Given the description of an element on the screen output the (x, y) to click on. 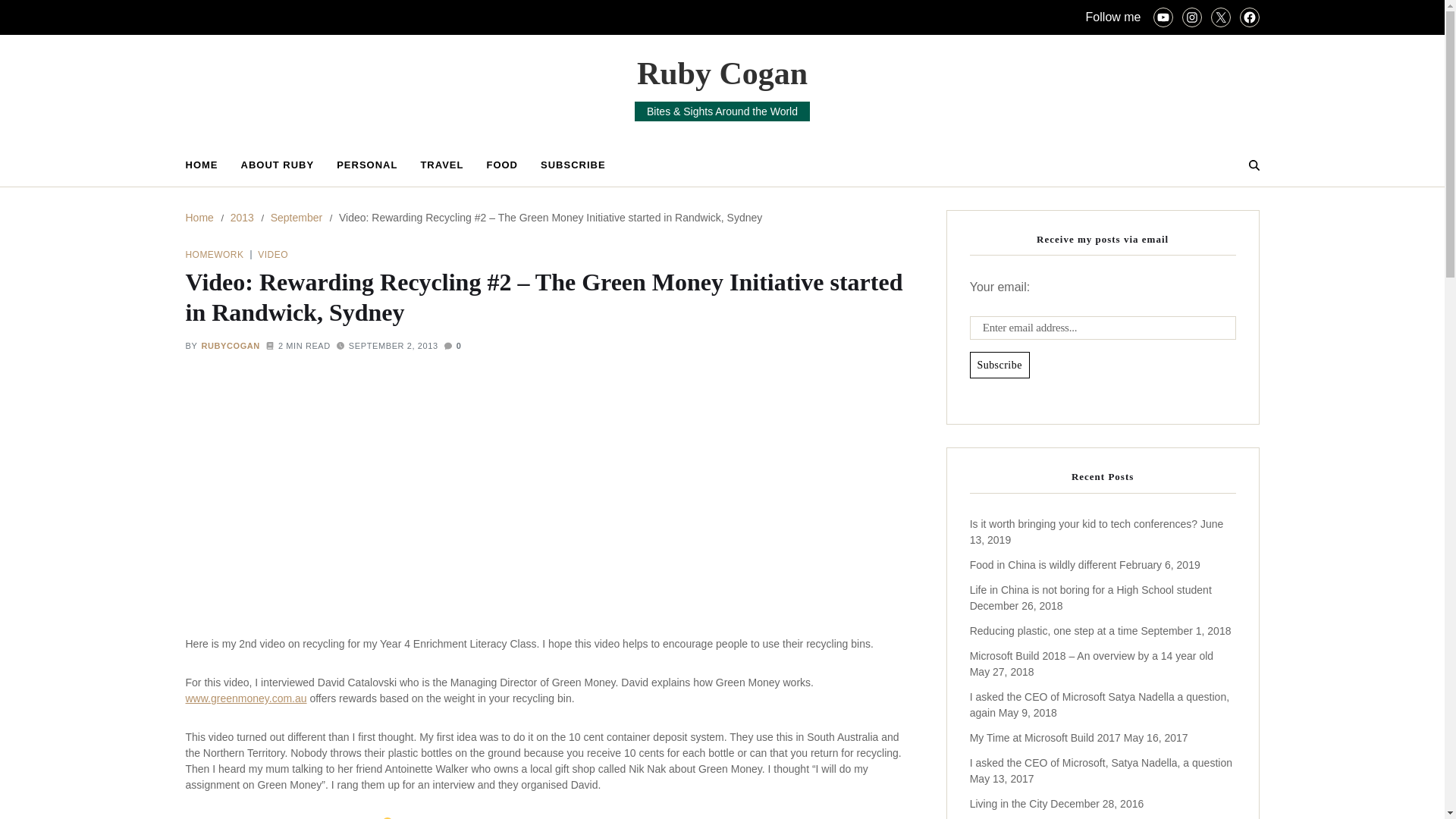
September (295, 217)
SUBSCRIBE (572, 165)
Enter email address... (1102, 327)
RUBYCOGAN (230, 345)
Home (198, 217)
Is it worth bringing your kid to tech conferences? (1082, 523)
PERSONAL (366, 165)
ABOUT RUBY (277, 165)
Ruby Cogan (721, 73)
Search (1215, 217)
2013 (241, 217)
Subscribe (999, 365)
Reducing plastic, one step at a time (1053, 630)
HOME (200, 165)
0 (452, 345)
